Given the description of an element on the screen output the (x, y) to click on. 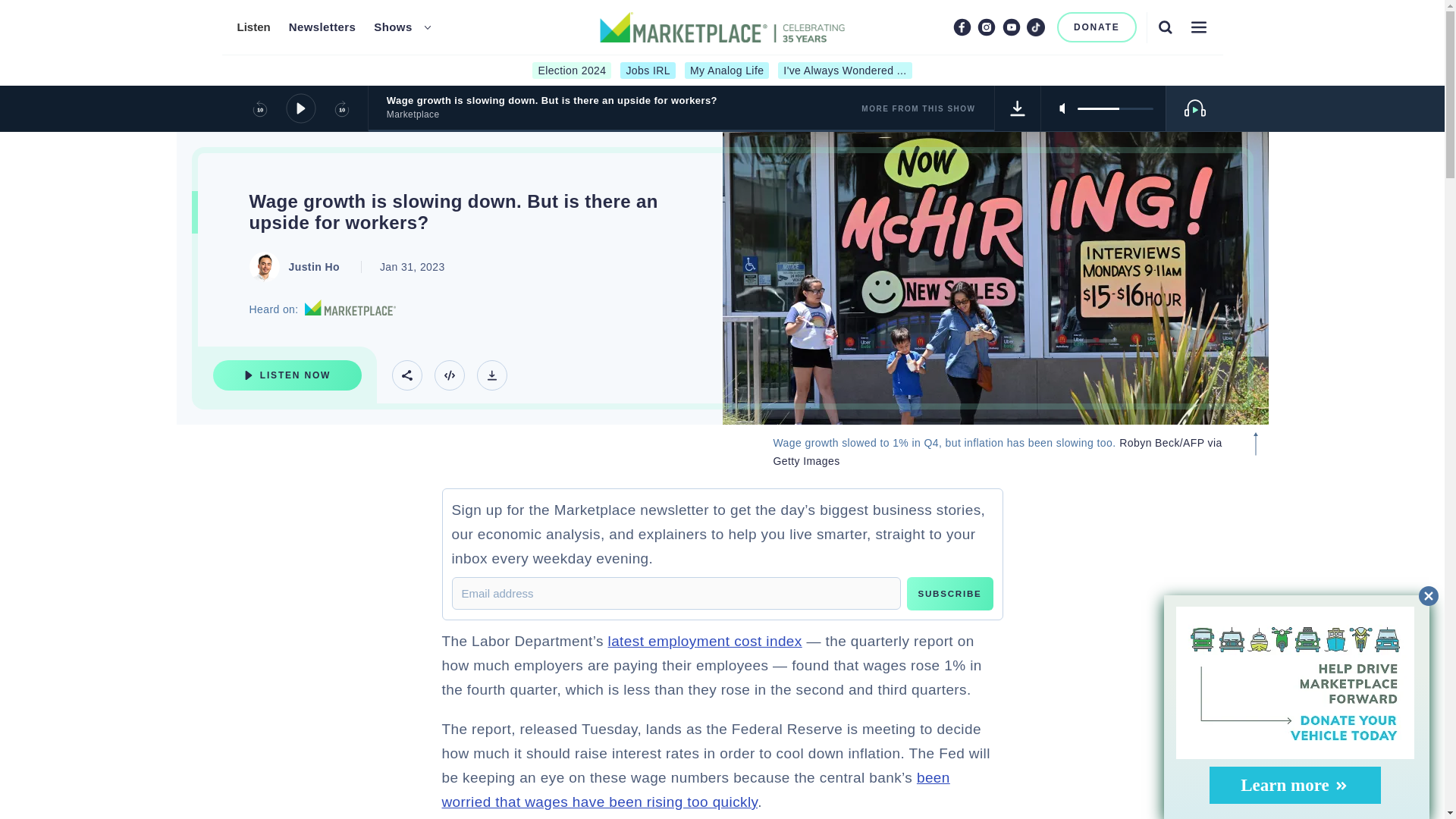
Listen (252, 26)
Shows (393, 26)
5 (1115, 108)
Facebook (962, 27)
DONATE (1097, 27)
Youtube (1011, 27)
Download Track (1017, 108)
Download Track (491, 374)
Menu (1198, 27)
Instagram (985, 27)
volume (1115, 108)
TikTok (1035, 27)
Newsletters (322, 27)
Search (1164, 27)
